Given the description of an element on the screen output the (x, y) to click on. 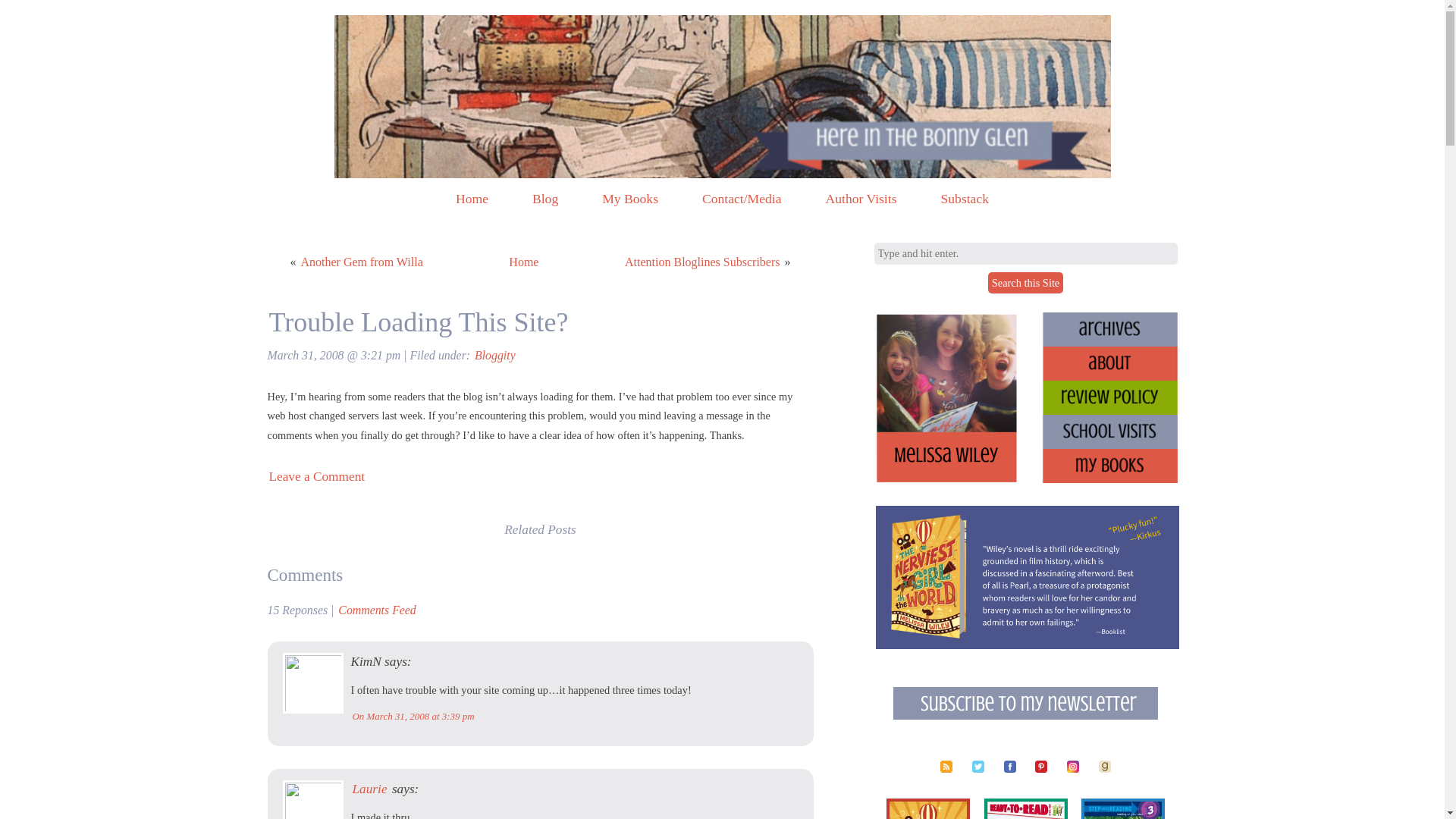
Bloggity (494, 354)
On March 31, 2008 at 3:39 pm (413, 715)
Home (523, 261)
Permanent Link (417, 322)
Leave a Comment (316, 476)
Home (471, 198)
Comments Feed (376, 609)
My Books (629, 198)
Trouble Loading This Site? (417, 322)
Substack (964, 198)
Laurie (369, 789)
Author Visits (861, 198)
Attention Bloglines Subscribers (701, 261)
Blog (545, 198)
Another Gem from Willa (360, 261)
